Given the description of an element on the screen output the (x, y) to click on. 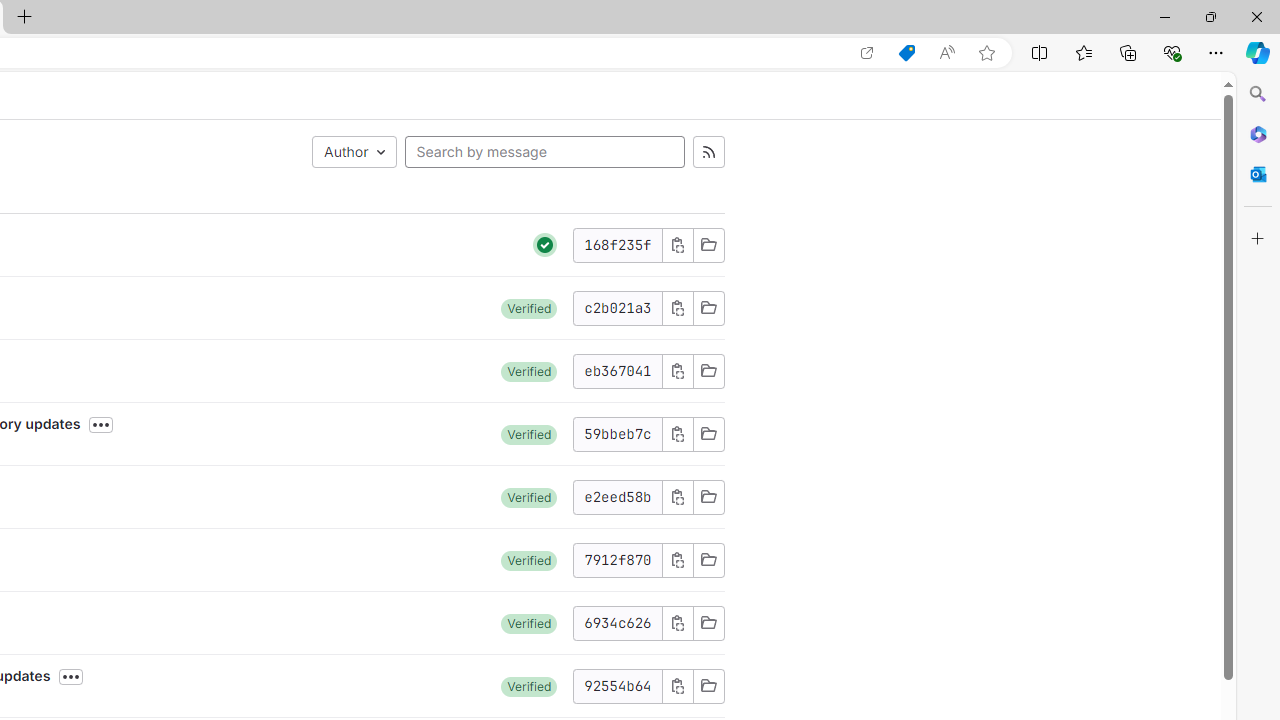
Collections (1128, 52)
Search (1258, 94)
Minimize (1164, 16)
Search by message (544, 151)
New Tab (24, 17)
Close (1256, 16)
Favorites (1083, 52)
Toggle commit description (71, 677)
Copilot (Ctrl+Shift+.) (1258, 52)
Verified (529, 685)
Close Outlook pane (1258, 174)
Settings and more (Alt+F) (1215, 52)
Read aloud this page (Ctrl+Shift+U) (946, 53)
Copy commit SHA (676, 686)
